Given the description of an element on the screen output the (x, y) to click on. 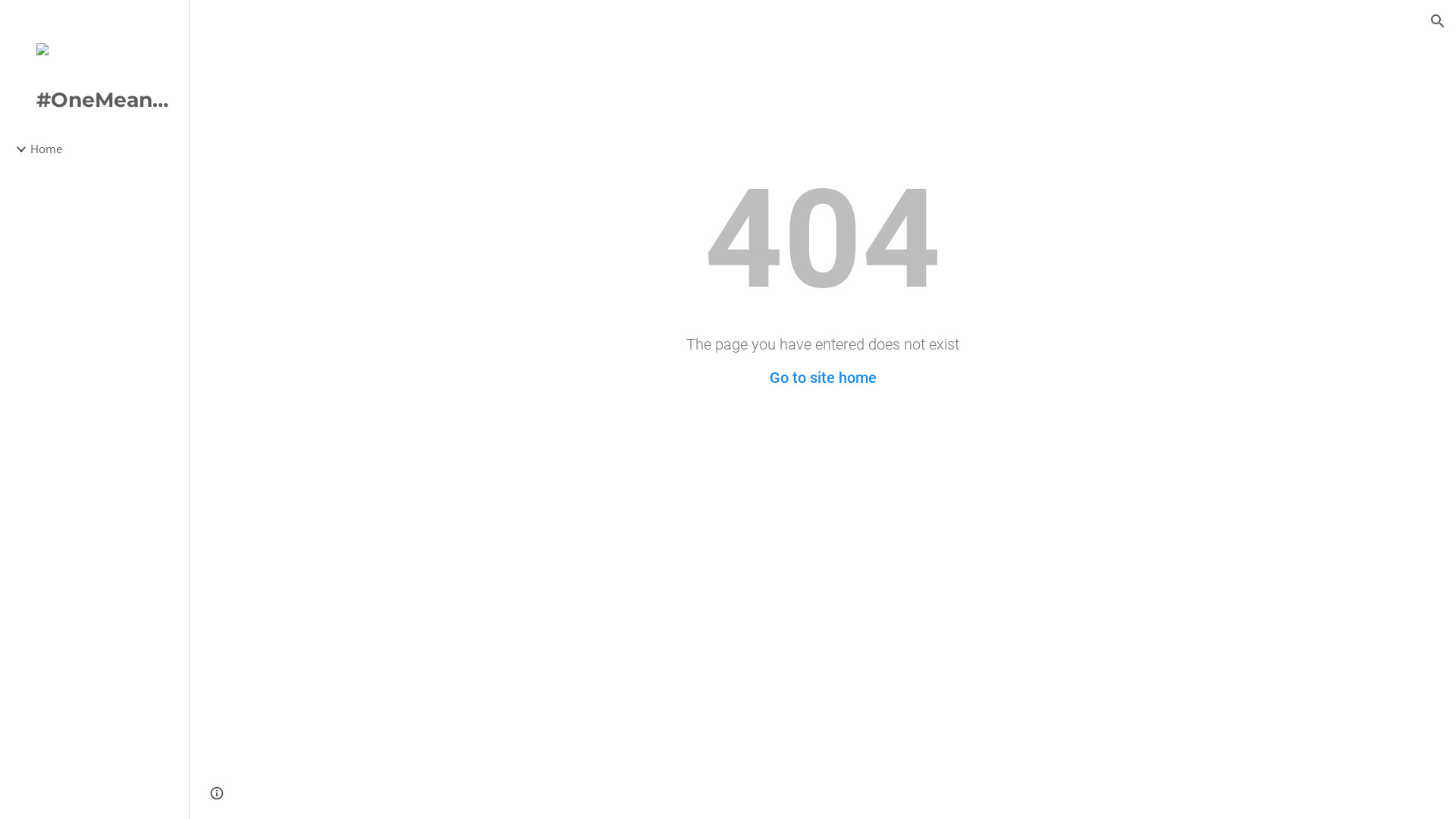
Expand/Collapse Element type: hover (16, 149)
#OneMeanFish Element type: text (94, 103)
Home Element type: text (103, 148)
Go to site home Element type: text (821, 377)
